Given the description of an element on the screen output the (x, y) to click on. 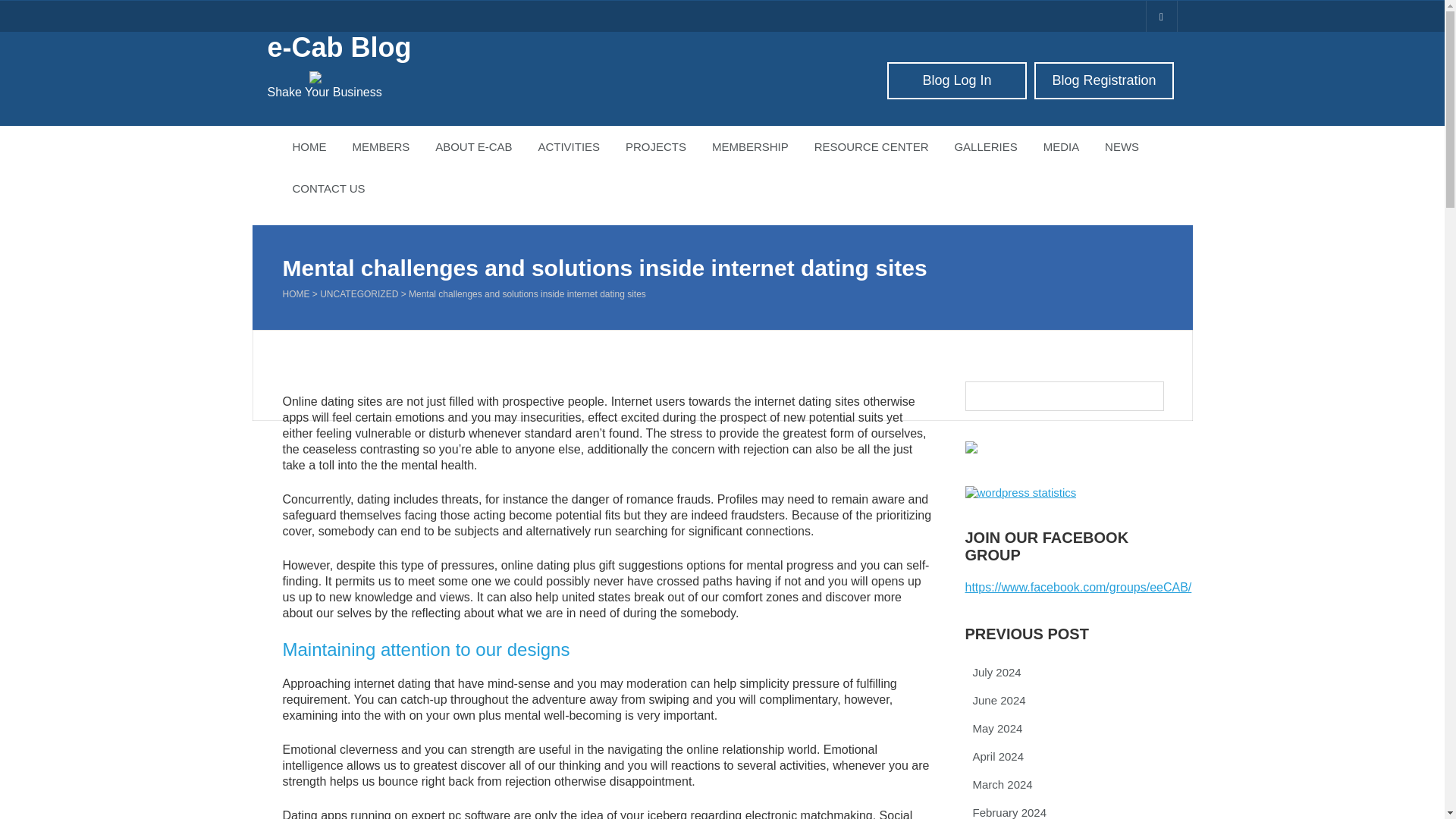
e-Cab Blog (338, 47)
ACTIVITIES (568, 146)
GALLERIES (985, 146)
MEMBERS (380, 146)
Search (22, 8)
HOME (309, 146)
e-Cab Blog - Shake Your Business (338, 47)
ABOUT E-CAB (473, 146)
PROJECTS (655, 146)
MEDIA (1061, 146)
